Given the description of an element on the screen output the (x, y) to click on. 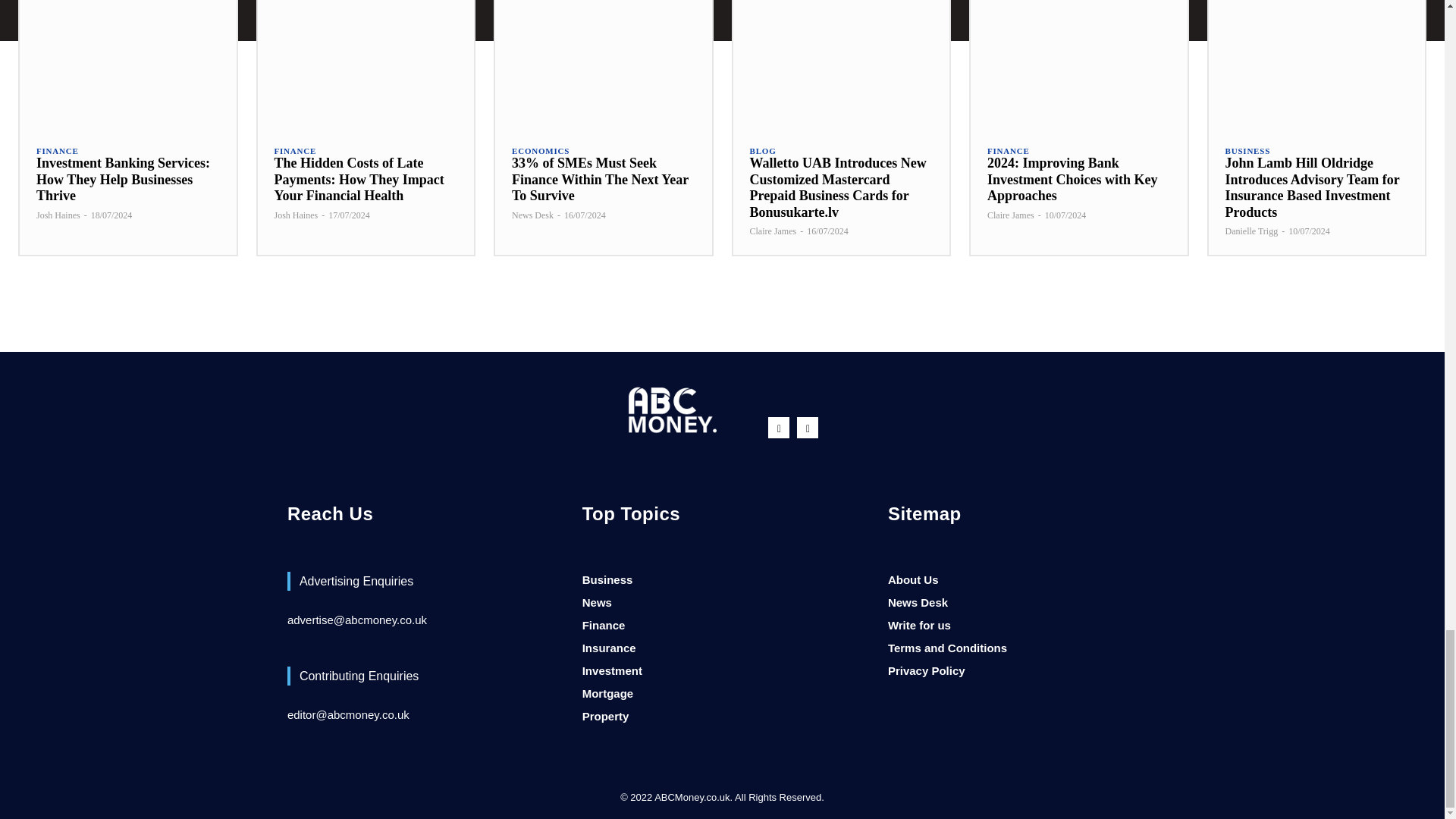
Investment Banking Services: How They Help Businesses Thrive (127, 63)
Investment Banking Services: How They Help Businesses Thrive (122, 179)
